Given the description of an element on the screen output the (x, y) to click on. 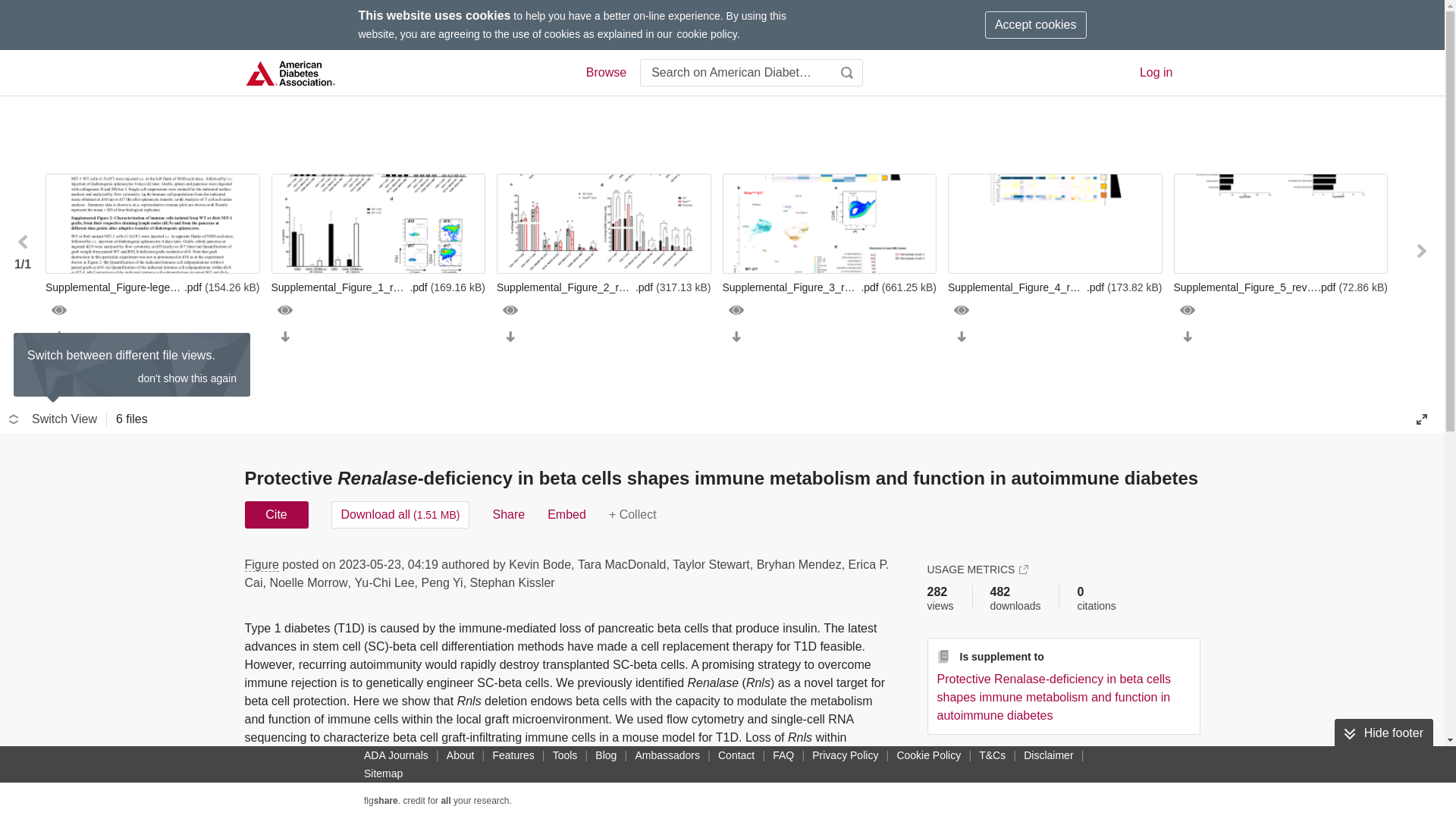
Embed (566, 514)
Switch View (52, 419)
Cite (275, 514)
Accept cookies (1035, 24)
Log in (1156, 72)
cookie policy (706, 33)
you need to log in first (632, 514)
Browse (605, 72)
Share (508, 514)
don't show this again (186, 378)
